Given the description of an element on the screen output the (x, y) to click on. 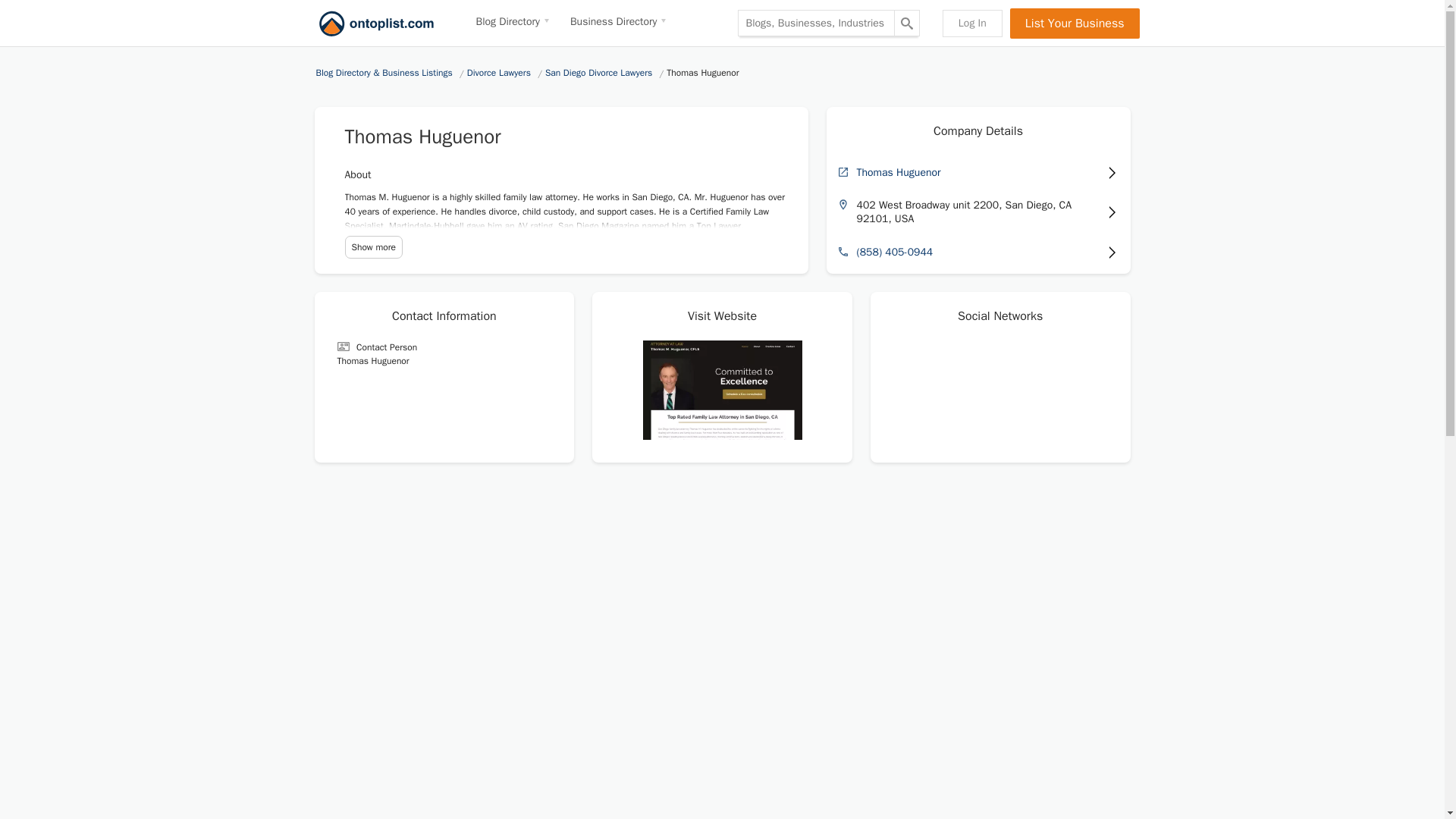
List Your Business (1075, 22)
Divorce Lawyers (500, 72)
San Diego Divorce Lawyers (600, 72)
San Diego Divorce Lawyers (600, 72)
Build your own Business Listing (1075, 22)
Thomas Huguenor (978, 172)
402 West Broadway unit 2200, San Diego, CA 92101, USA (978, 212)
Log In (972, 22)
Divorce Lawyers (500, 72)
